Given the description of an element on the screen output the (x, y) to click on. 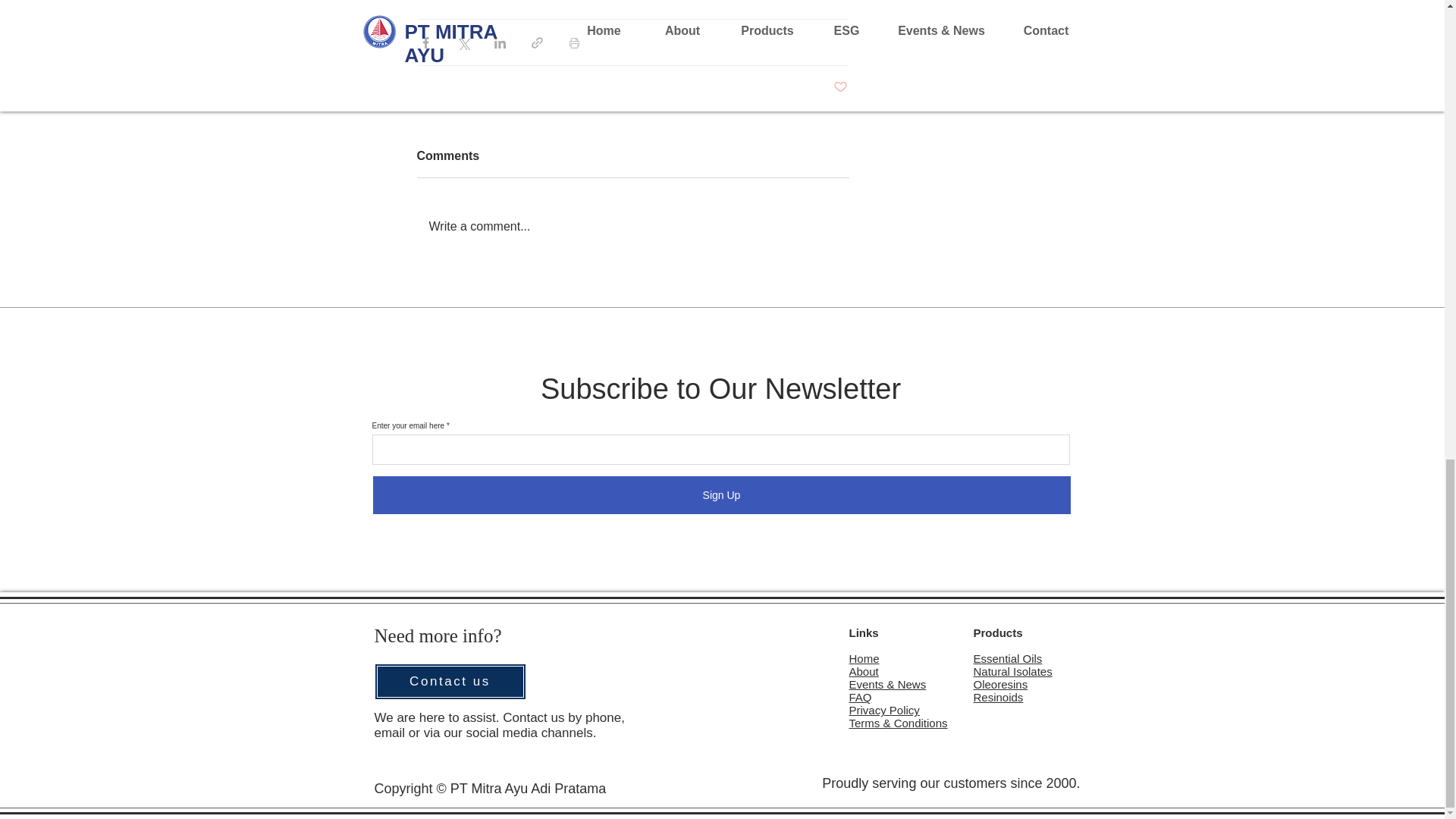
Natural Isolates (1013, 671)
About (863, 671)
FAQ (860, 697)
Post not marked as liked (839, 87)
Essential Oils (1008, 658)
Oleoresins (1000, 684)
Resinoids (998, 697)
Contact us (449, 681)
Sign Up (721, 494)
Write a comment... (632, 226)
Home (863, 658)
Privacy Policy (884, 709)
